Given the description of an element on the screen output the (x, y) to click on. 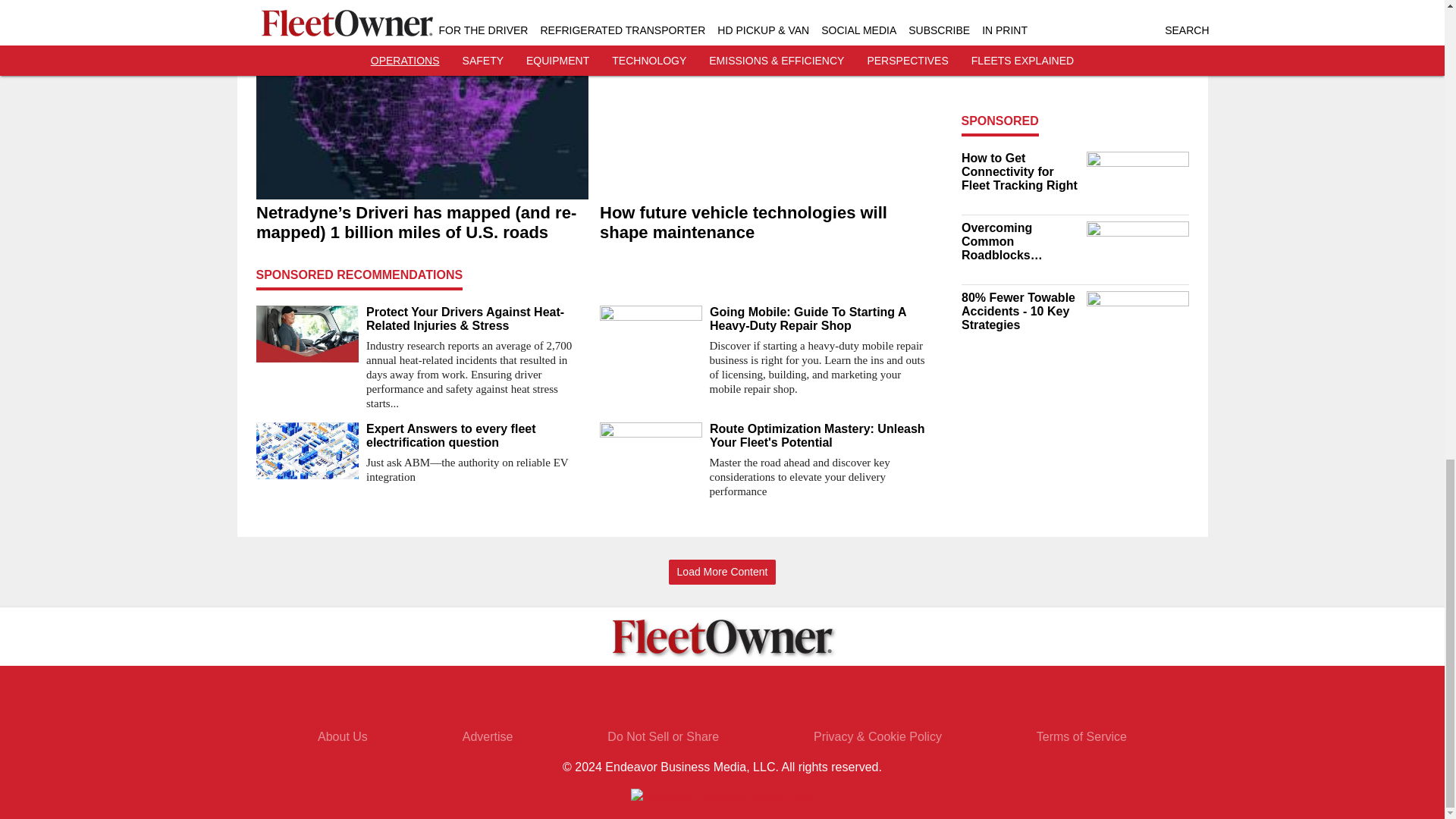
How future vehicle technologies will shape maintenance (764, 222)
Going Mobile: Guide To Starting A Heavy-Duty Repair Shop (820, 318)
Route Optimization Mastery: Unleash Your Fleet's Potential (820, 435)
Expert Answers to every fleet electrification question (476, 435)
